Given the description of an element on the screen output the (x, y) to click on. 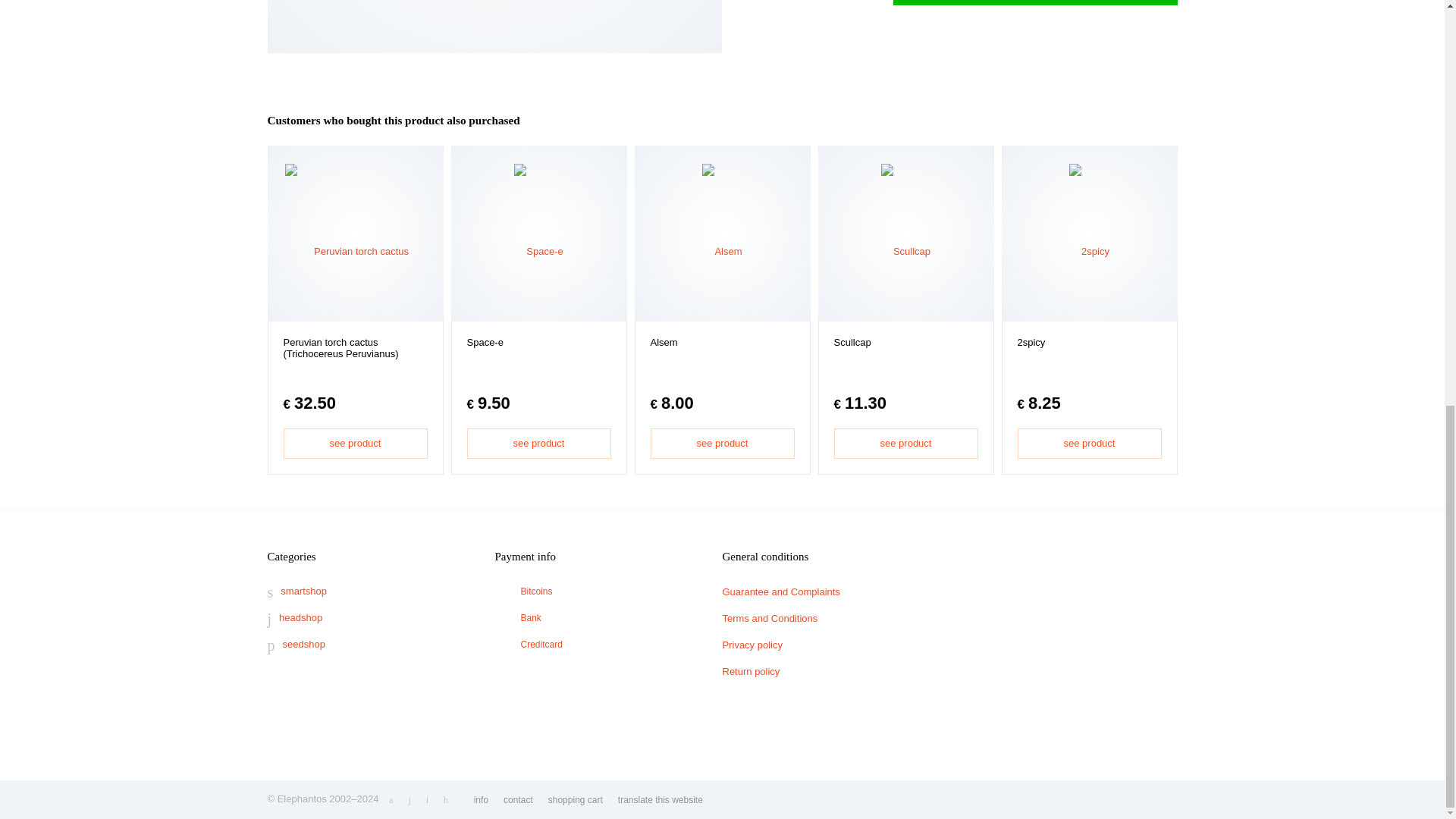
webwinkelkeur (1055, 645)
 The Electric Vacuum Cleaner  (494, 9)
